Given the description of an element on the screen output the (x, y) to click on. 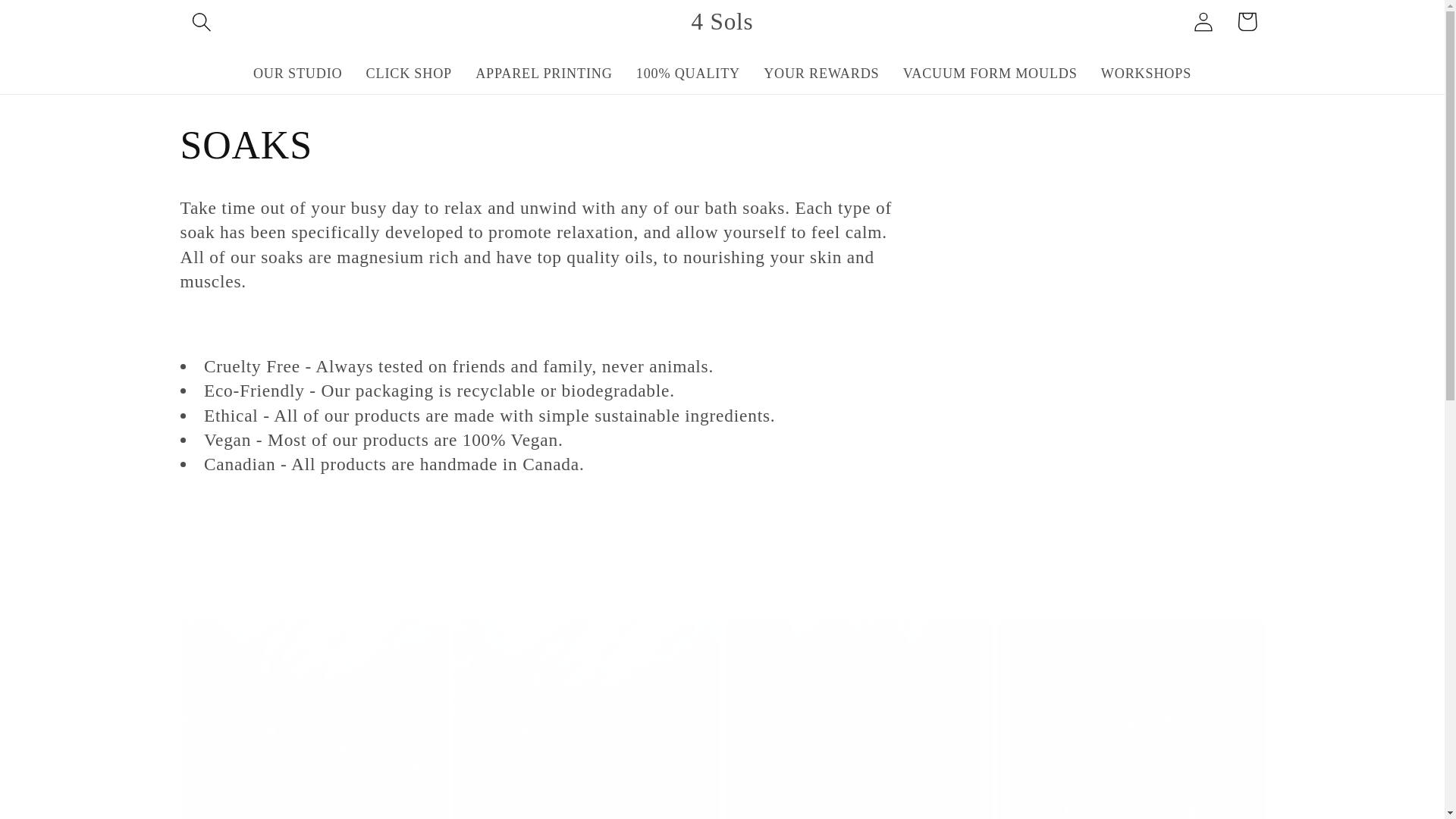
APPAREL PRINTING (544, 74)
CLICK SHOP (408, 74)
VACUUM FORM MOULDS (990, 74)
WORKSHOPS (1145, 74)
4 Sols (722, 21)
Cart (1246, 21)
YOUR REWARDS (821, 74)
OUR STUDIO (297, 74)
Skip to content (59, 22)
Log in (1202, 21)
